Given the description of an element on the screen output the (x, y) to click on. 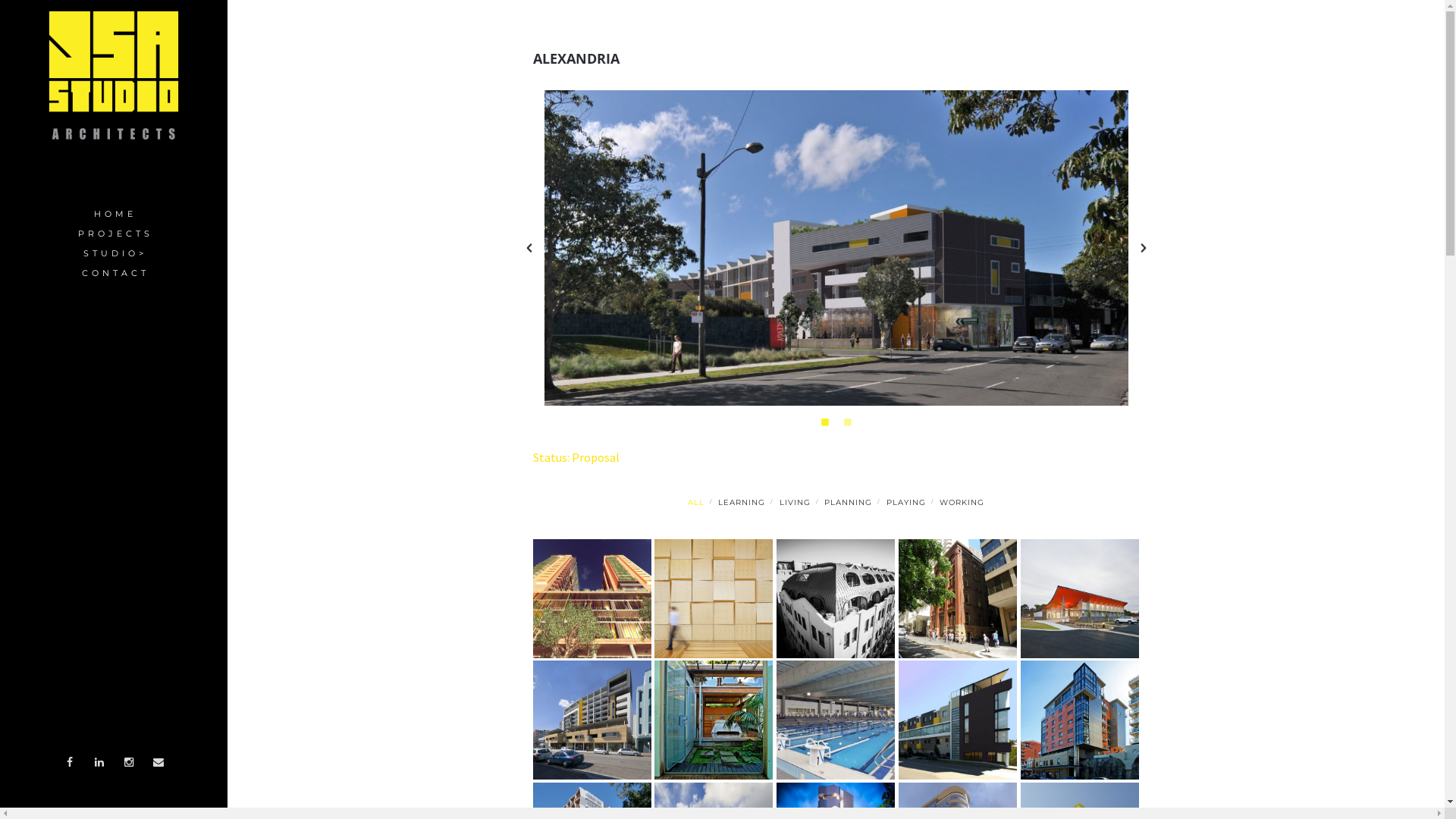
P R O J E C T S Element type: text (113, 234)
JSA Studio Architects Element type: hover (113, 74)
S T U D I O > Element type: text (113, 253)
H O M E Element type: text (113, 214)
C O N T A C T Element type: text (113, 273)
